Given the description of an element on the screen output the (x, y) to click on. 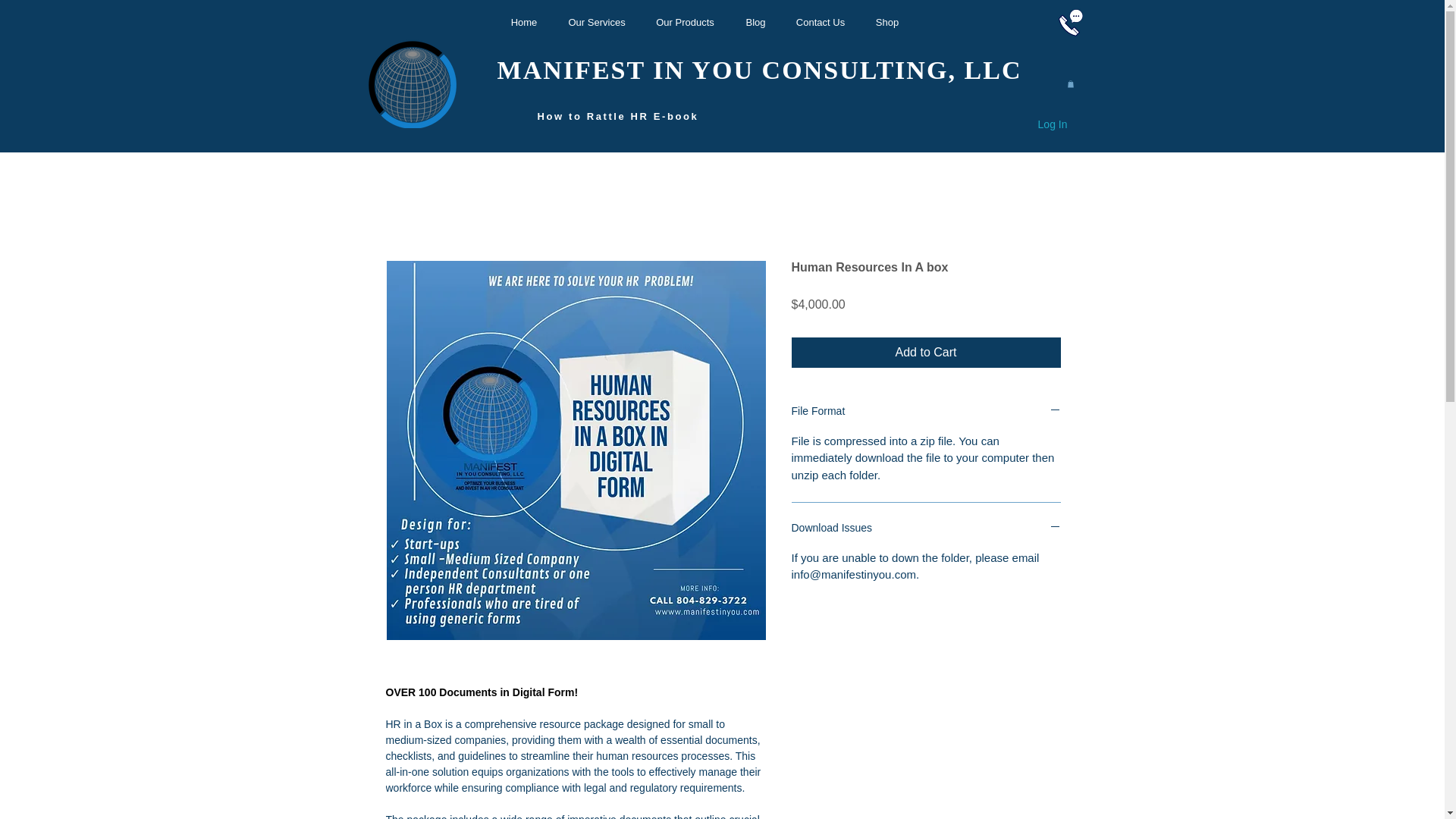
Our Products (685, 22)
Blog (755, 22)
Download Issues (926, 528)
Contact Us (820, 22)
How to Rattle HR E-book (618, 115)
File Format (926, 412)
Shop (887, 22)
Log In (1052, 125)
Home (524, 22)
Add to Cart (926, 352)
